Given the description of an element on the screen output the (x, y) to click on. 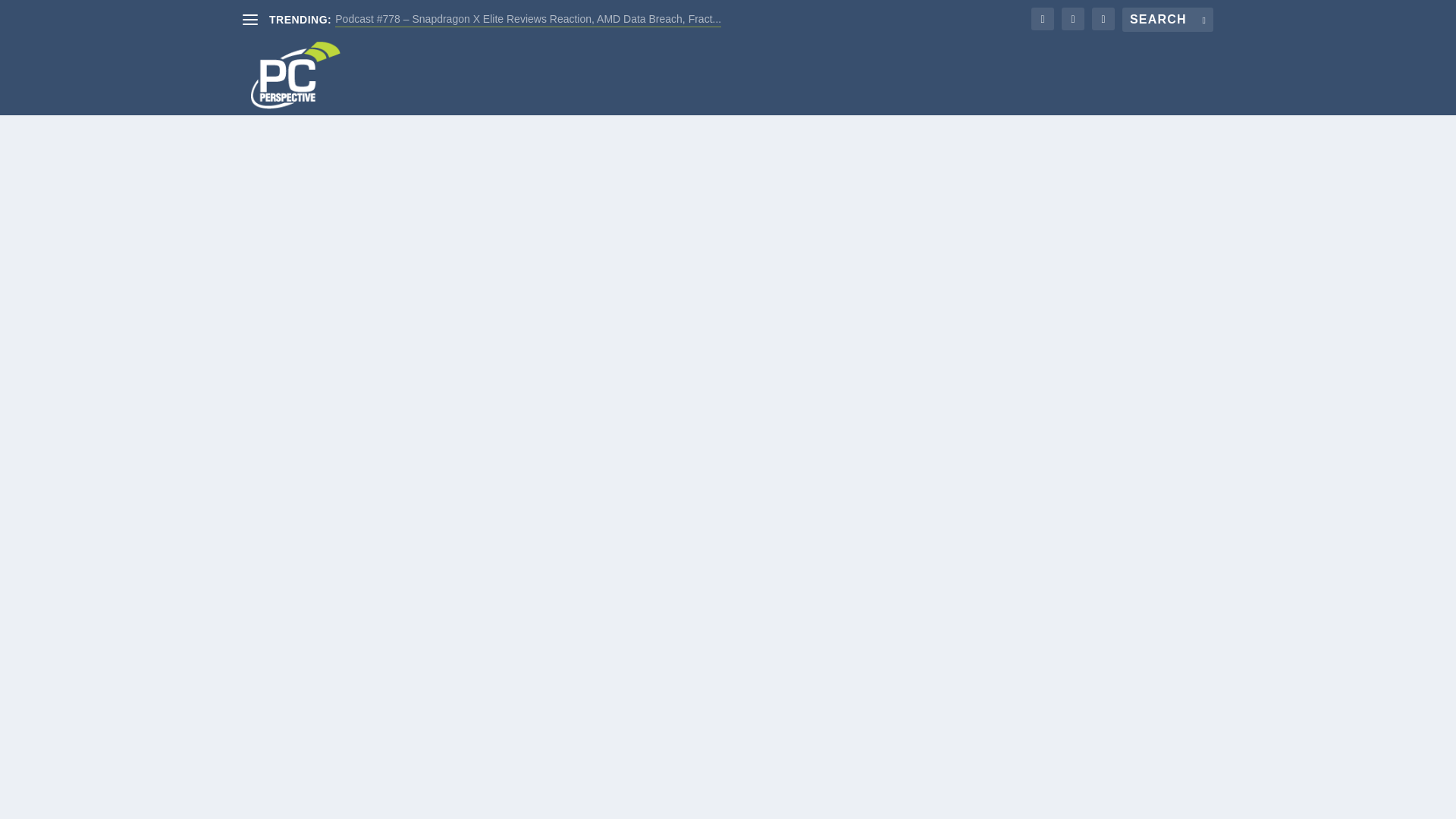
Search for: (1167, 19)
